Given the description of an element on the screen output the (x, y) to click on. 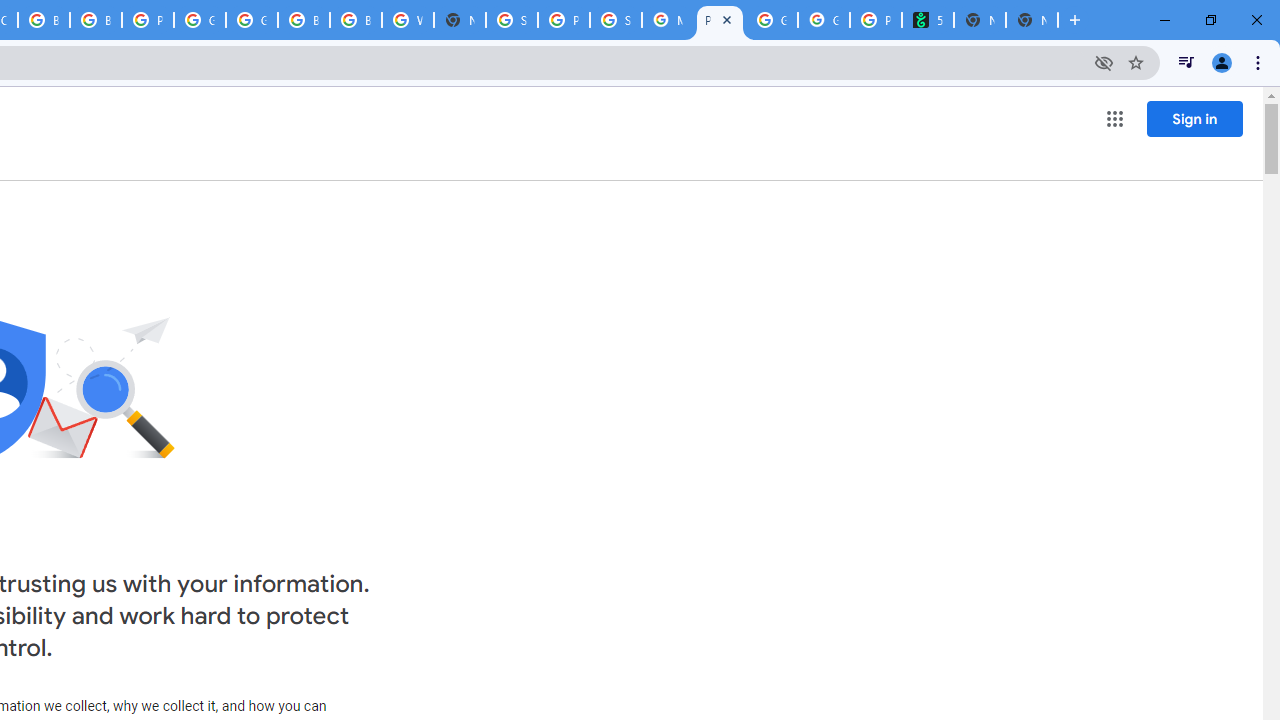
Sign in - Google Accounts (511, 20)
Google Cloud Platform (251, 20)
